Given the description of an element on the screen output the (x, y) to click on. 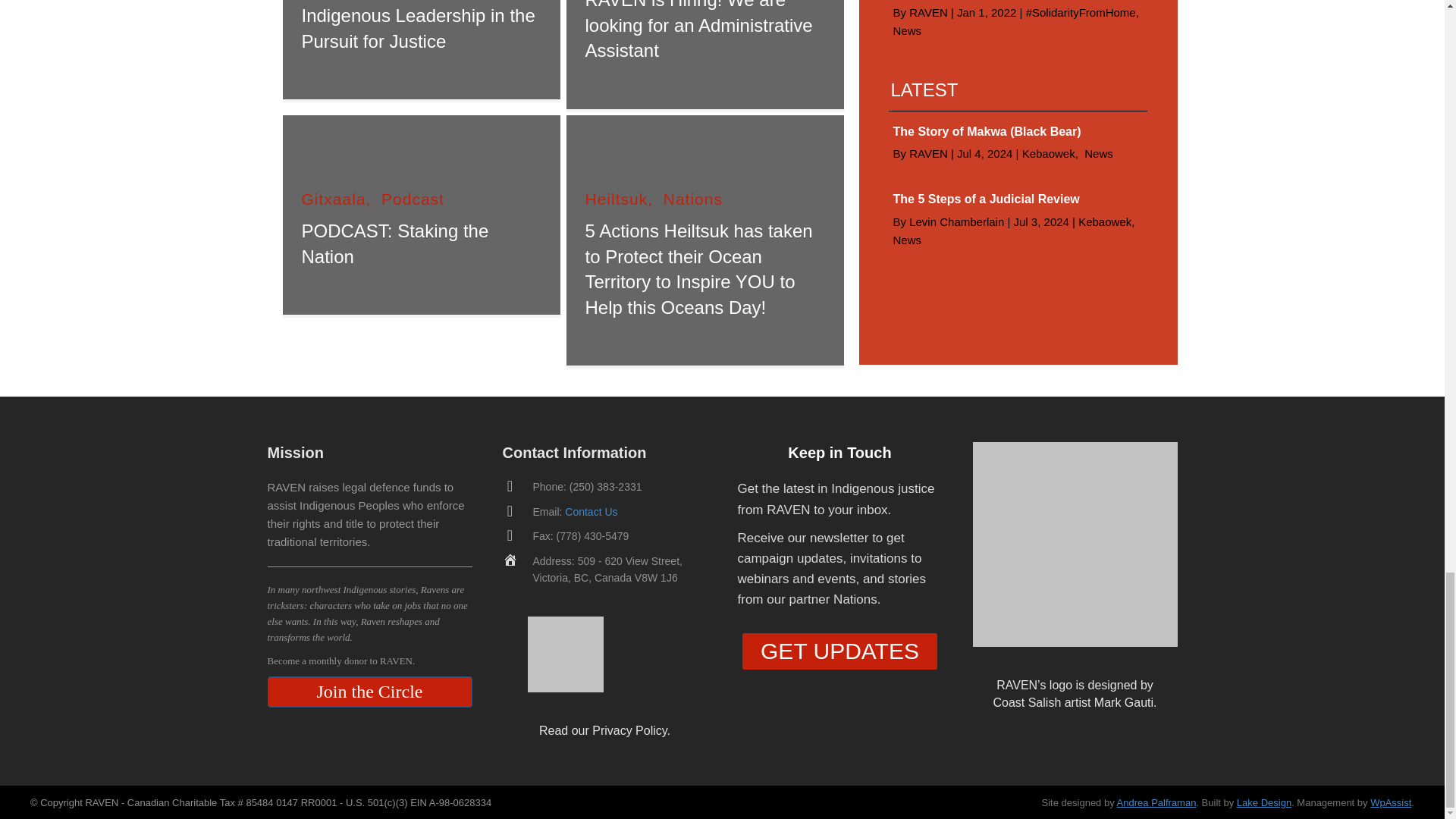
Indigenous Leadership in the Pursuit for Justice (418, 27)
